Given the description of an element on the screen output the (x, y) to click on. 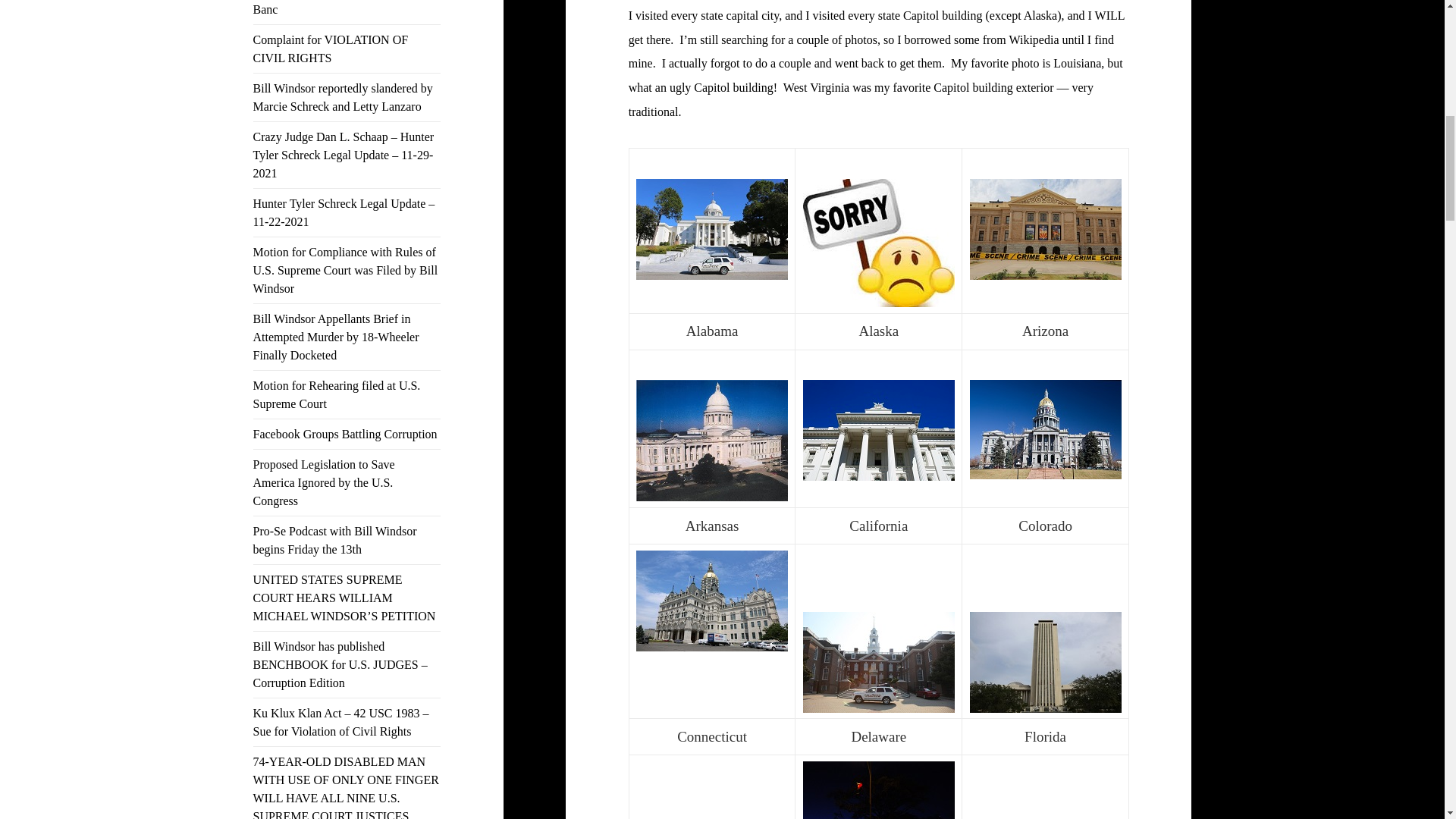
Motion for Rehearing filed at U.S. Supreme Court (336, 394)
Windsor Petition for Rehearing En Banc (337, 7)
Facebook Groups Battling Corruption (345, 433)
Complaint for VIOLATION OF CIVIL RIGHTS (331, 48)
Pro-Se Podcast with Bill Windsor begins Friday the 13th (334, 540)
